Given the description of an element on the screen output the (x, y) to click on. 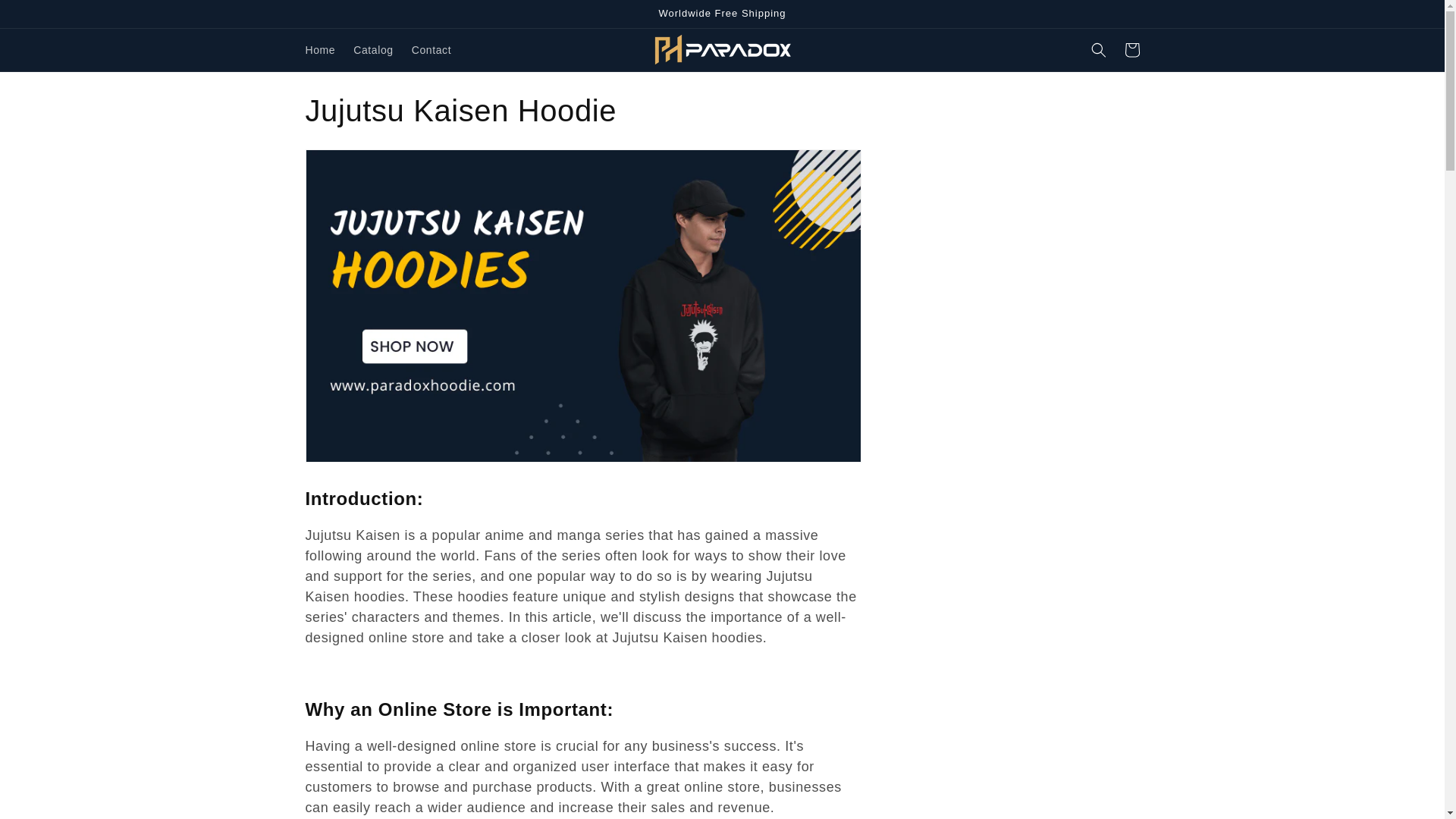
Cart (1131, 49)
Skip to content (45, 17)
Home (319, 50)
Catalog (372, 50)
Contact (431, 50)
